Given the description of an element on the screen output the (x, y) to click on. 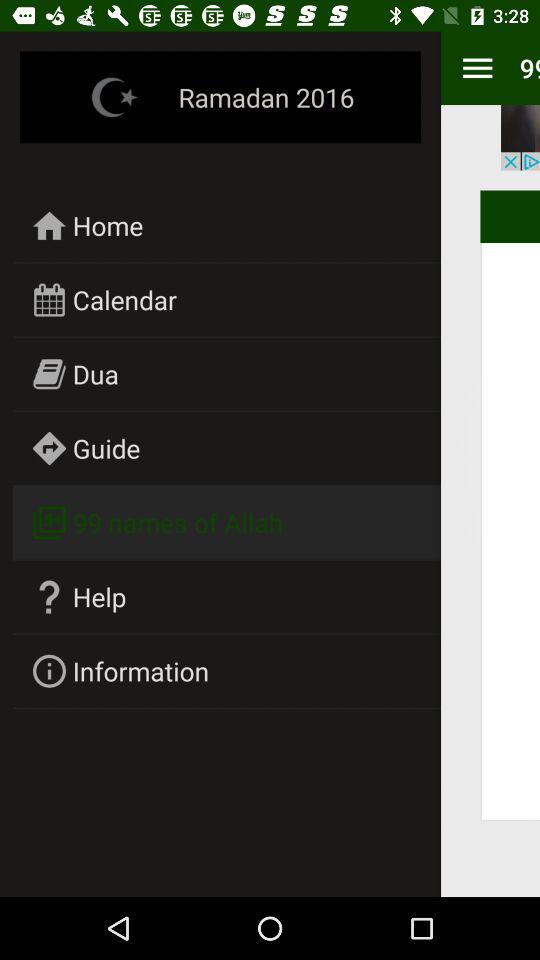
click the item to the right of ramadan 2016 (477, 68)
